Given the description of an element on the screen output the (x, y) to click on. 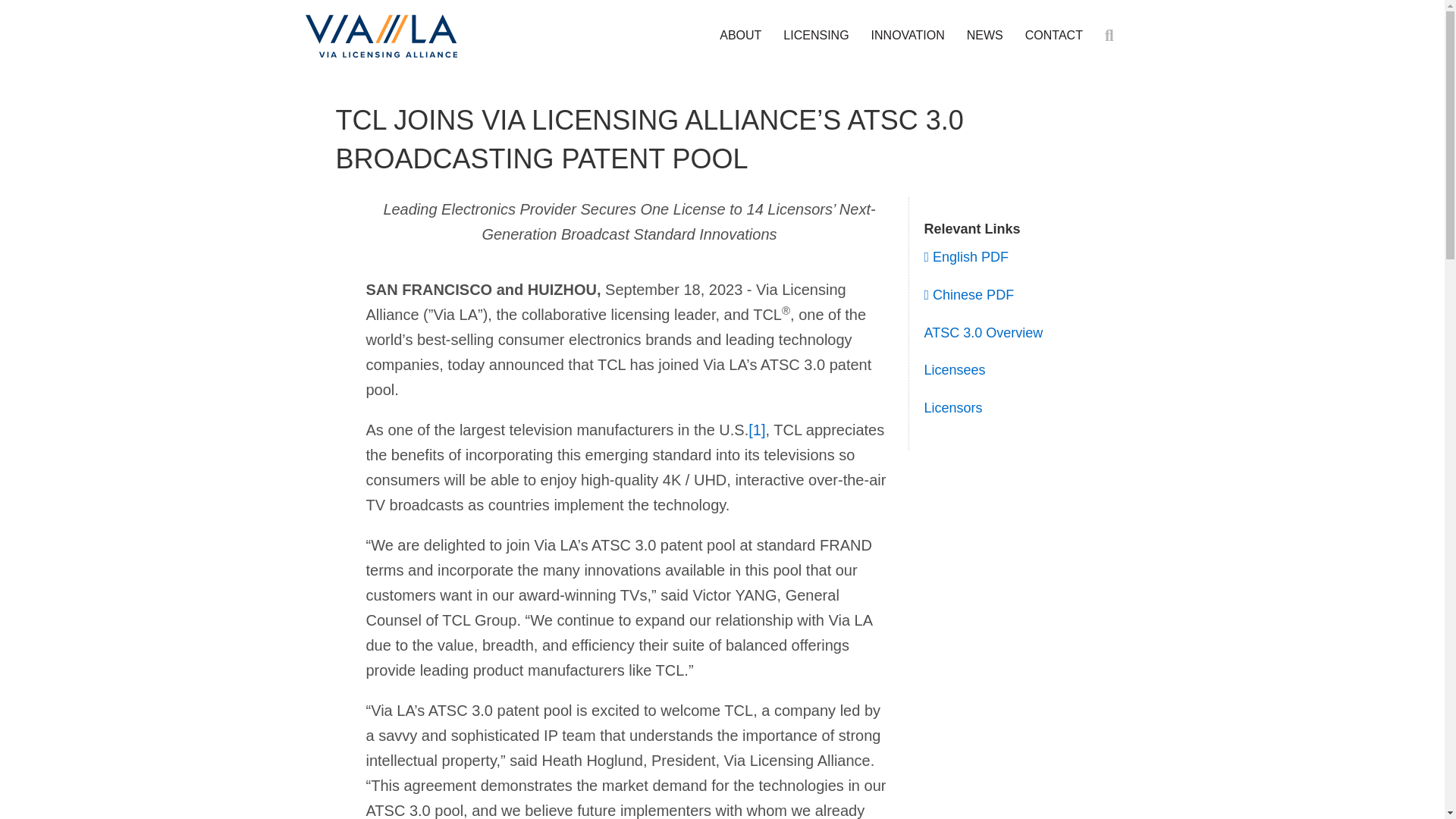
ABOUT (740, 35)
CONTACT (1053, 35)
LICENSING (816, 35)
INNOVATION (907, 35)
NEWS (984, 35)
